Given the description of an element on the screen output the (x, y) to click on. 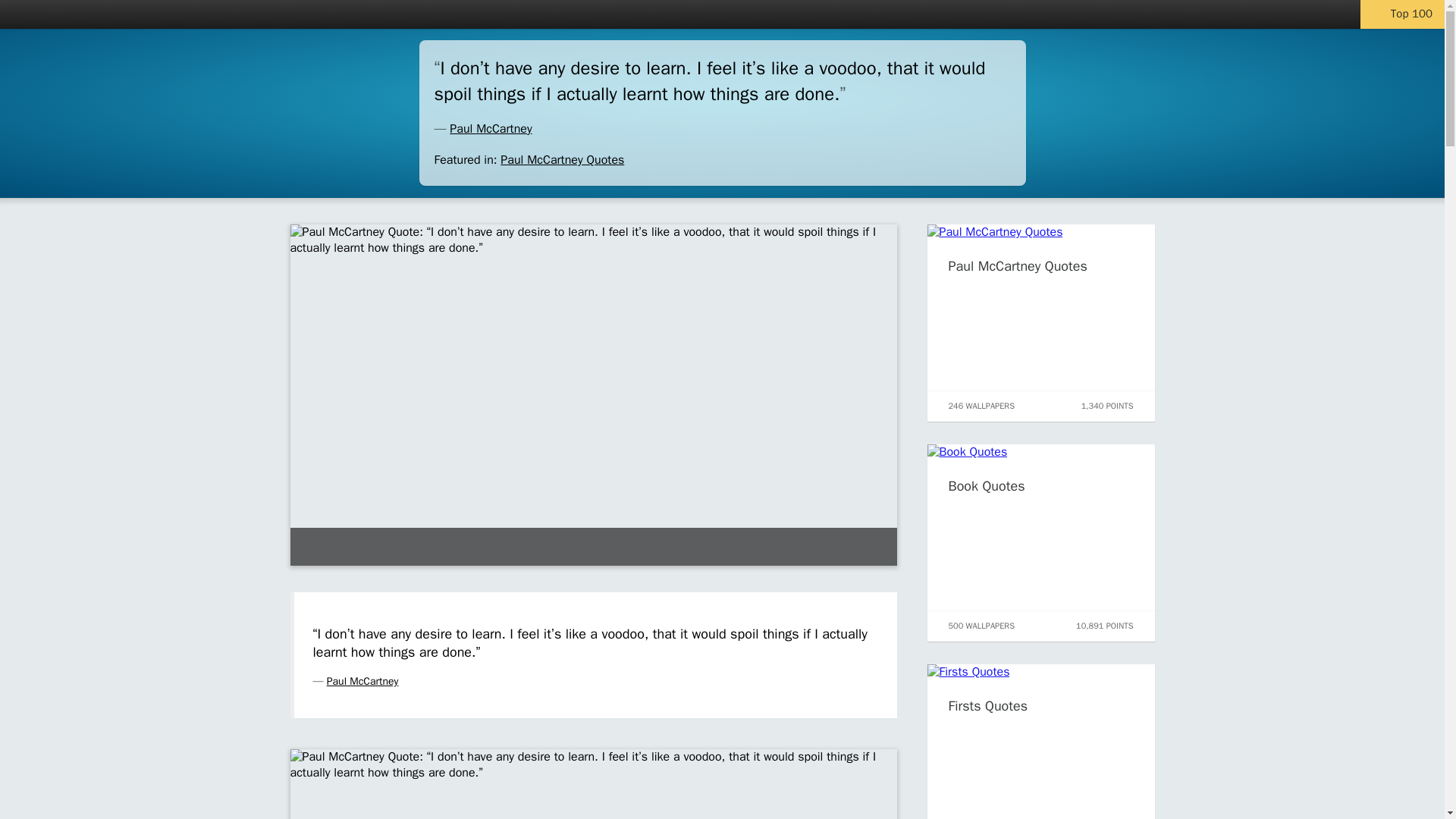
Book Quotes (986, 485)
Quotefancy (57, 14)
Paul McCartney (362, 680)
Paul McCartney (490, 128)
Paul McCartney Quotes (562, 159)
Paul McCartney Quotes (1016, 265)
Firsts Quotes (987, 705)
